Given the description of an element on the screen output the (x, y) to click on. 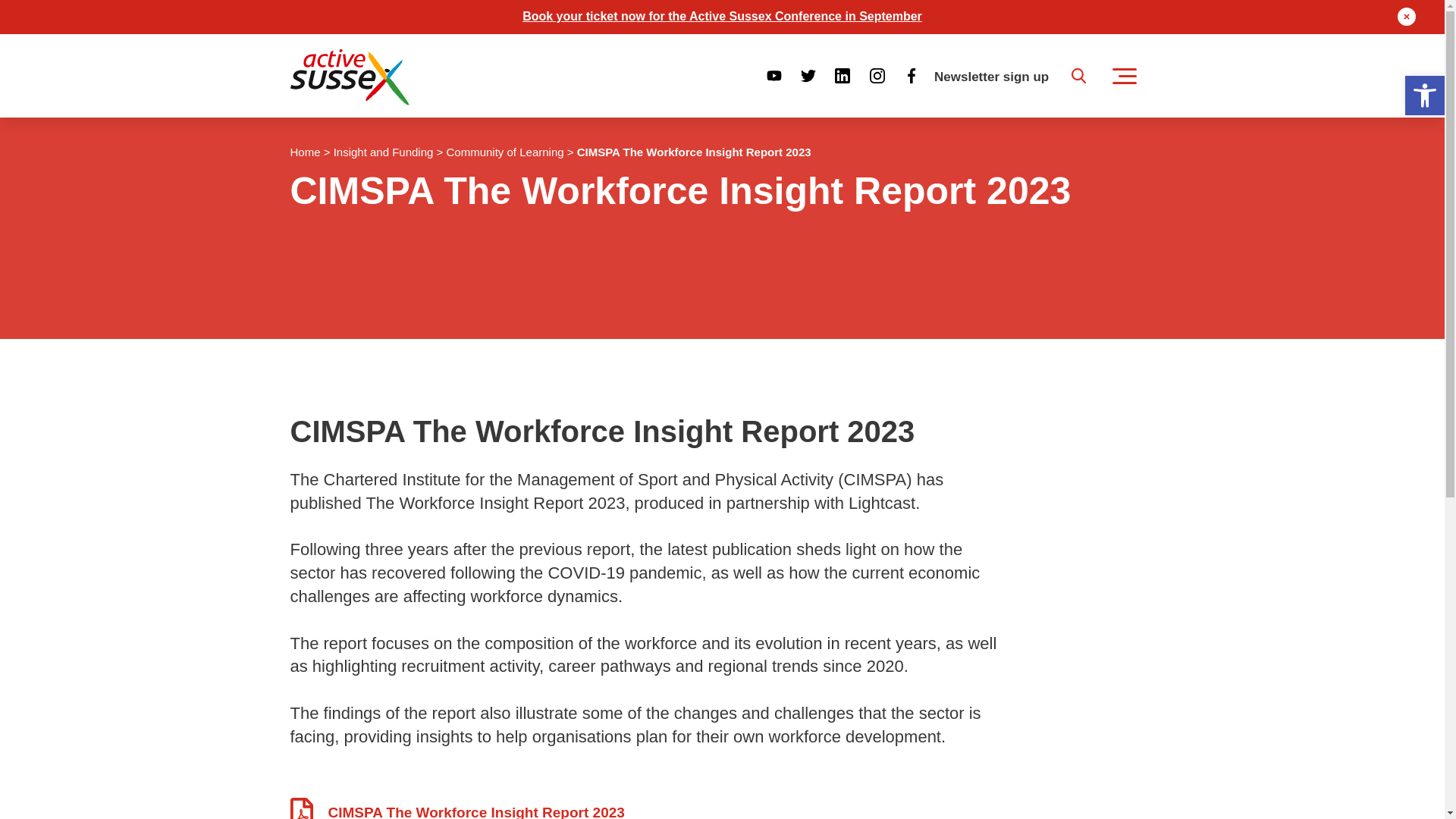
Newsletter sign up (991, 76)
Accessibility Tools (1424, 95)
